Given the description of an element on the screen output the (x, y) to click on. 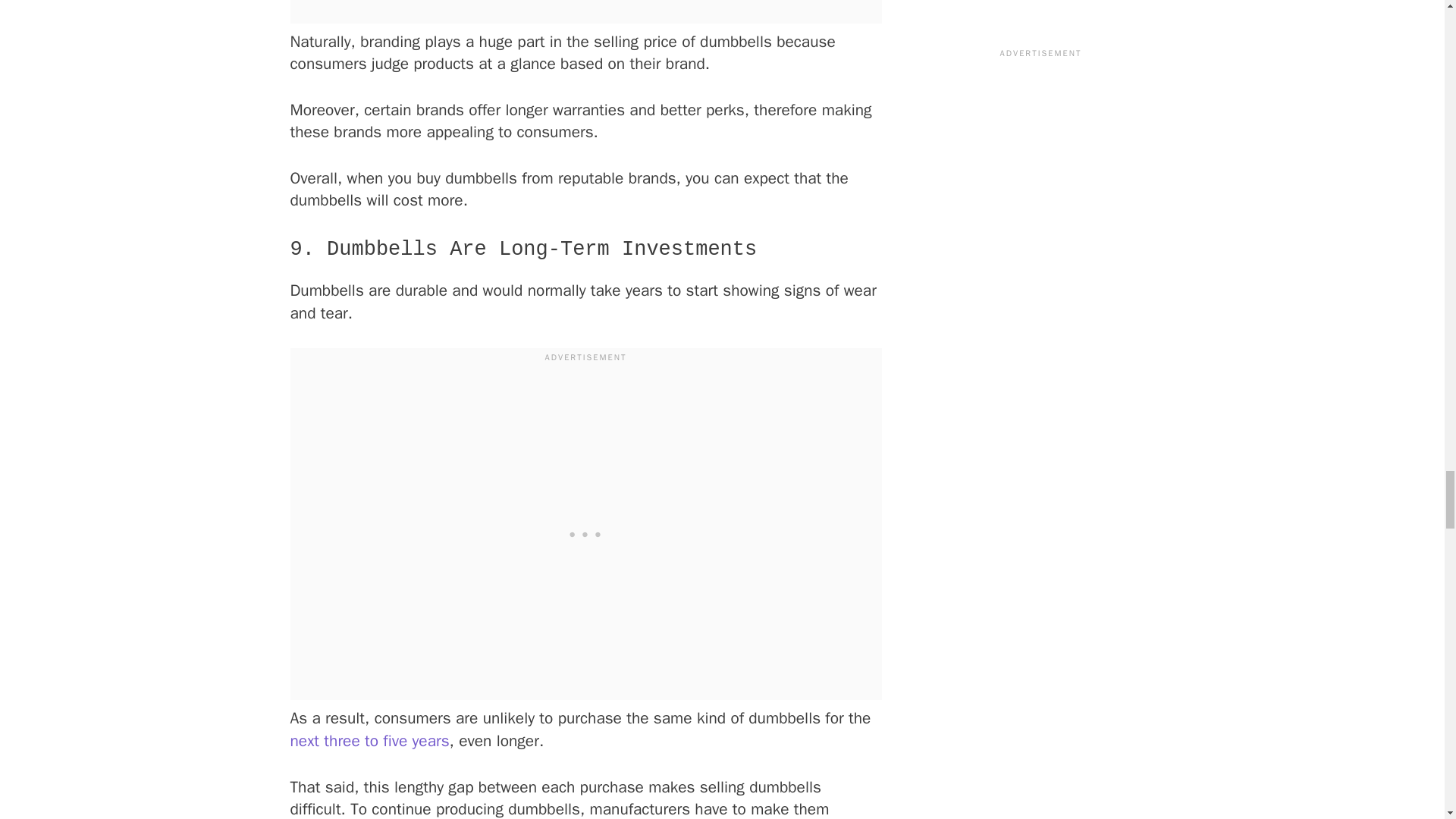
next three to five years (368, 741)
